Given the description of an element on the screen output the (x, y) to click on. 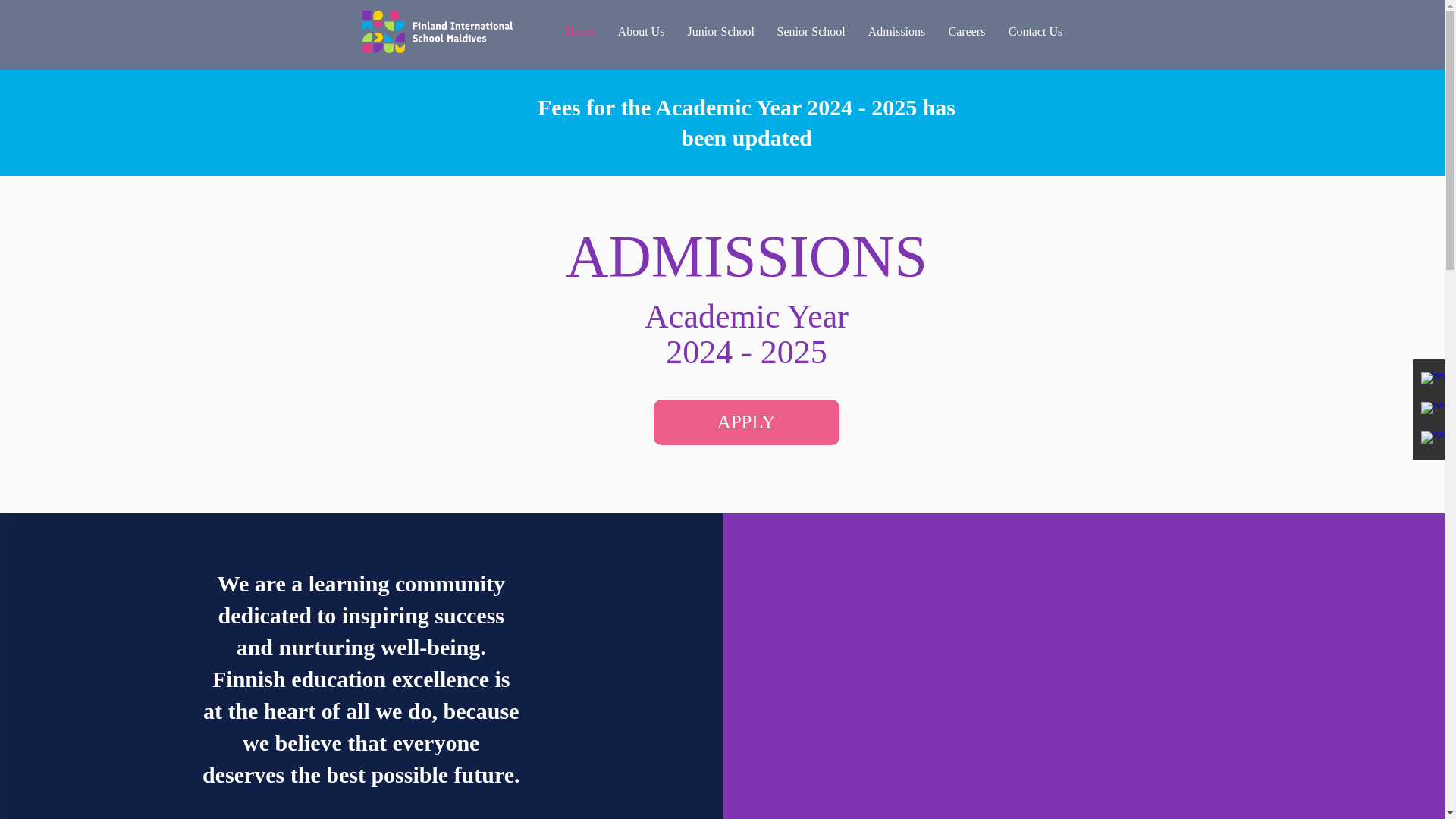
About Us (642, 30)
Junior School (721, 30)
Admissions (897, 30)
Senior School (811, 30)
Contact Us (1034, 30)
APPLY (746, 422)
Careers (967, 30)
Home (579, 30)
